Given the description of an element on the screen output the (x, y) to click on. 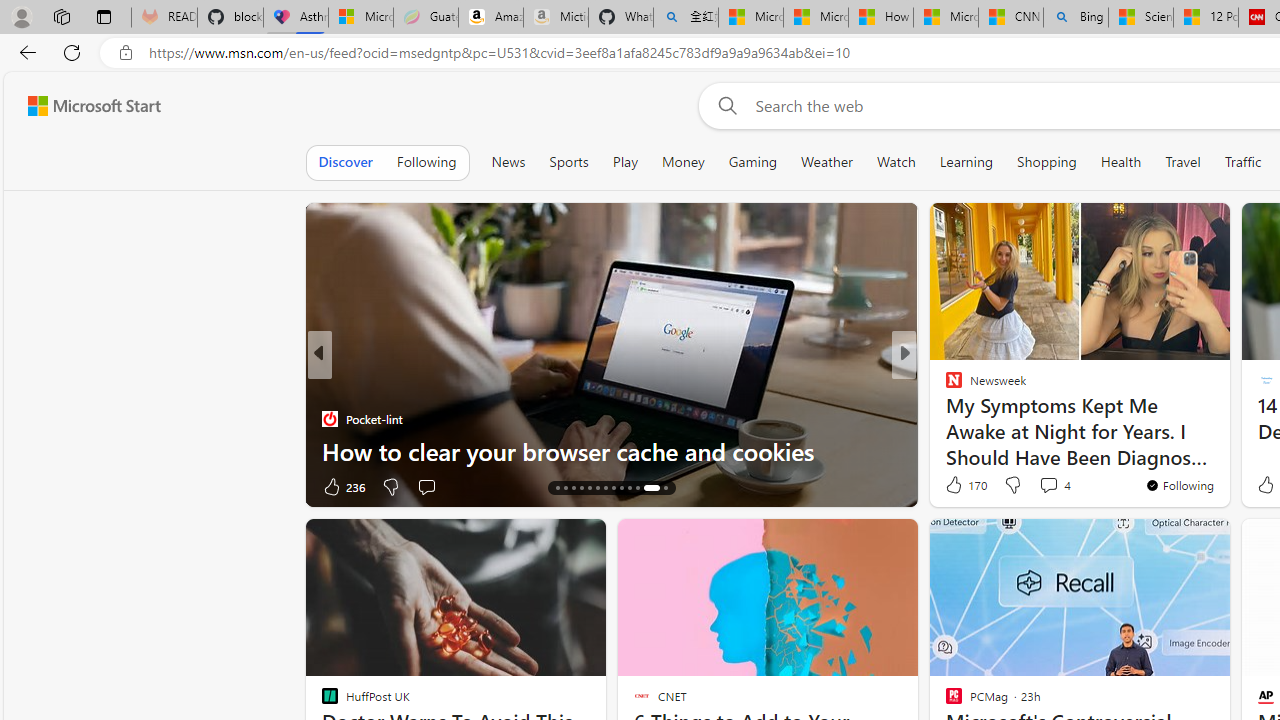
AutomationID: tab-15 (564, 487)
You're following Newsweek (1179, 485)
Hide this story (1169, 542)
Gaming (752, 162)
View comments 34 Comment (435, 486)
CNN - MSN (1011, 17)
How I Got Rid of Microsoft Edge's Unnecessary Features (880, 17)
Dislike (1012, 484)
Science - MSN (1140, 17)
View comments 4 Comment (1048, 485)
View comments 4 Comment (1054, 484)
Money (682, 162)
Discover (345, 162)
